Given the description of an element on the screen output the (x, y) to click on. 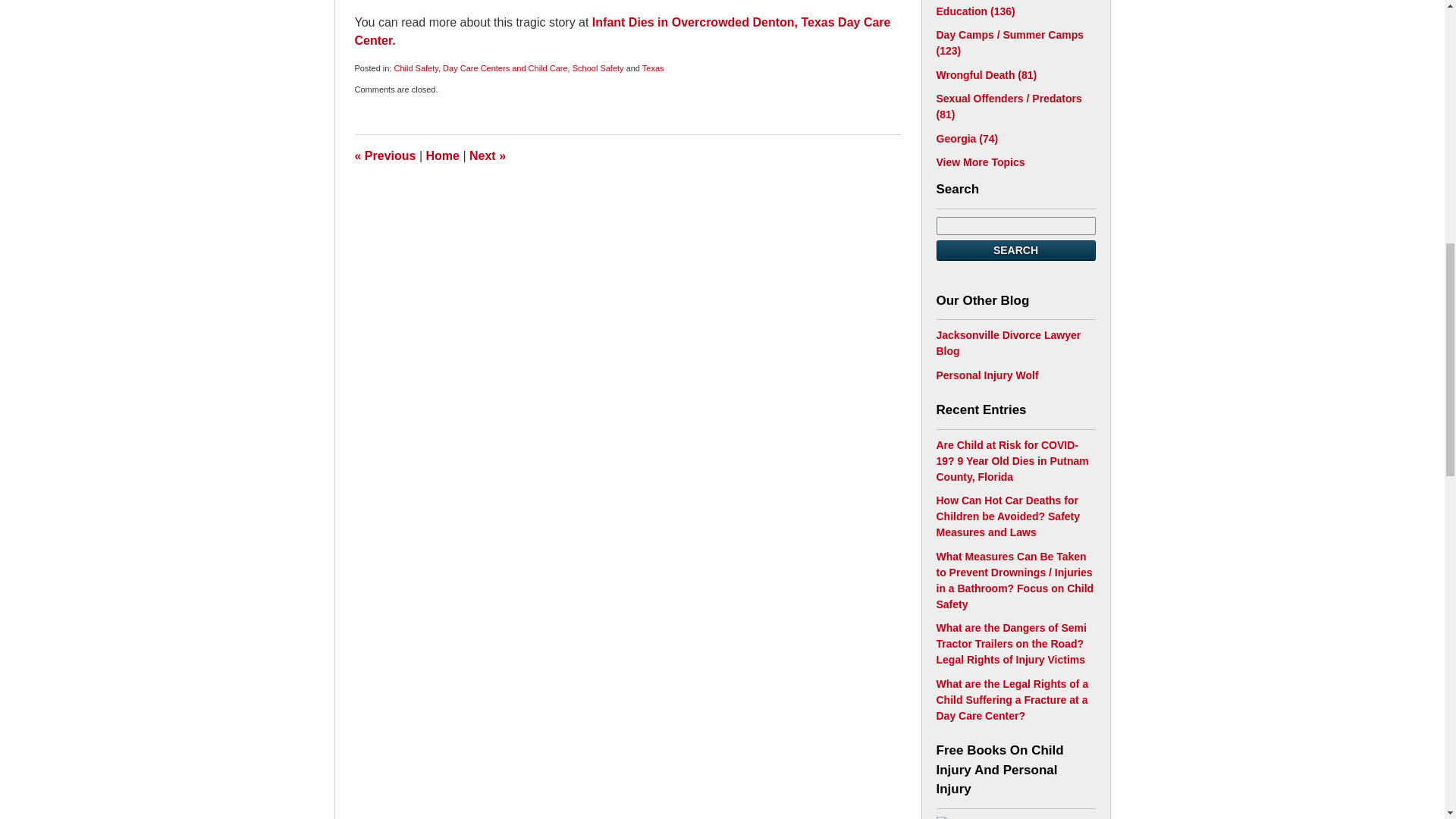
View More Topics (980, 162)
Day Care Centers and Child Care (504, 67)
Child Safety (415, 67)
View all posts in School Safety (598, 67)
View all posts in Child Safety (415, 67)
Home (443, 155)
School Safety (598, 67)
View all posts in Texas (652, 67)
Infant Dies in Overcrowded Denton, Texas Day Care Center. (623, 30)
Texas (652, 67)
View all posts in Day Care Centers and Child Care (504, 67)
SEARCH (1015, 249)
